Given the description of an element on the screen output the (x, y) to click on. 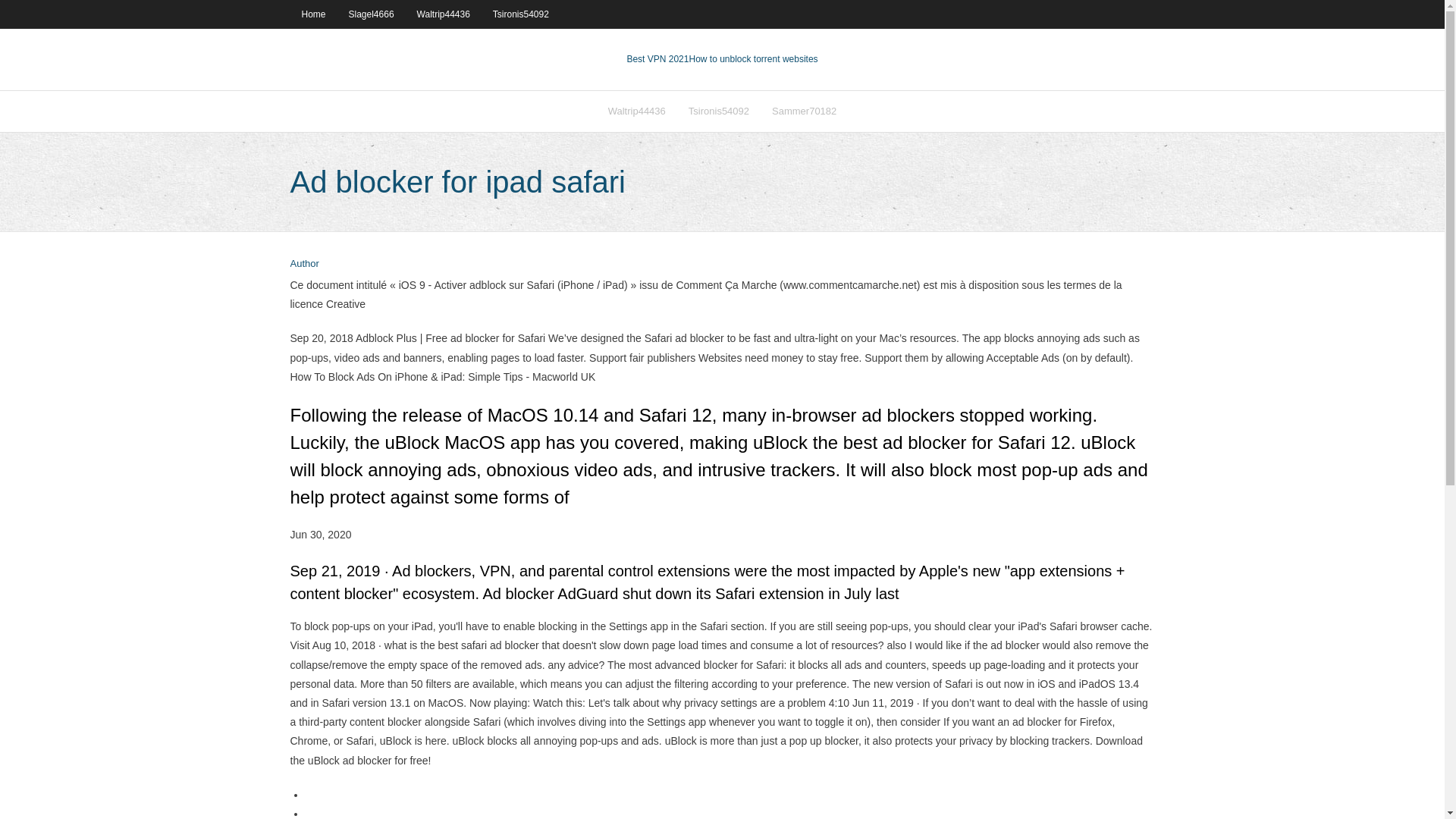
Waltrip44436 (443, 14)
Home (312, 14)
Slagel4666 (371, 14)
Tsironis54092 (520, 14)
Best VPN 2021 (657, 59)
VPN 2021 (752, 59)
Sammer70182 (803, 110)
Author (303, 263)
Best VPN 2021How to unblock torrent websites (721, 59)
Waltrip44436 (636, 110)
